Given the description of an element on the screen output the (x, y) to click on. 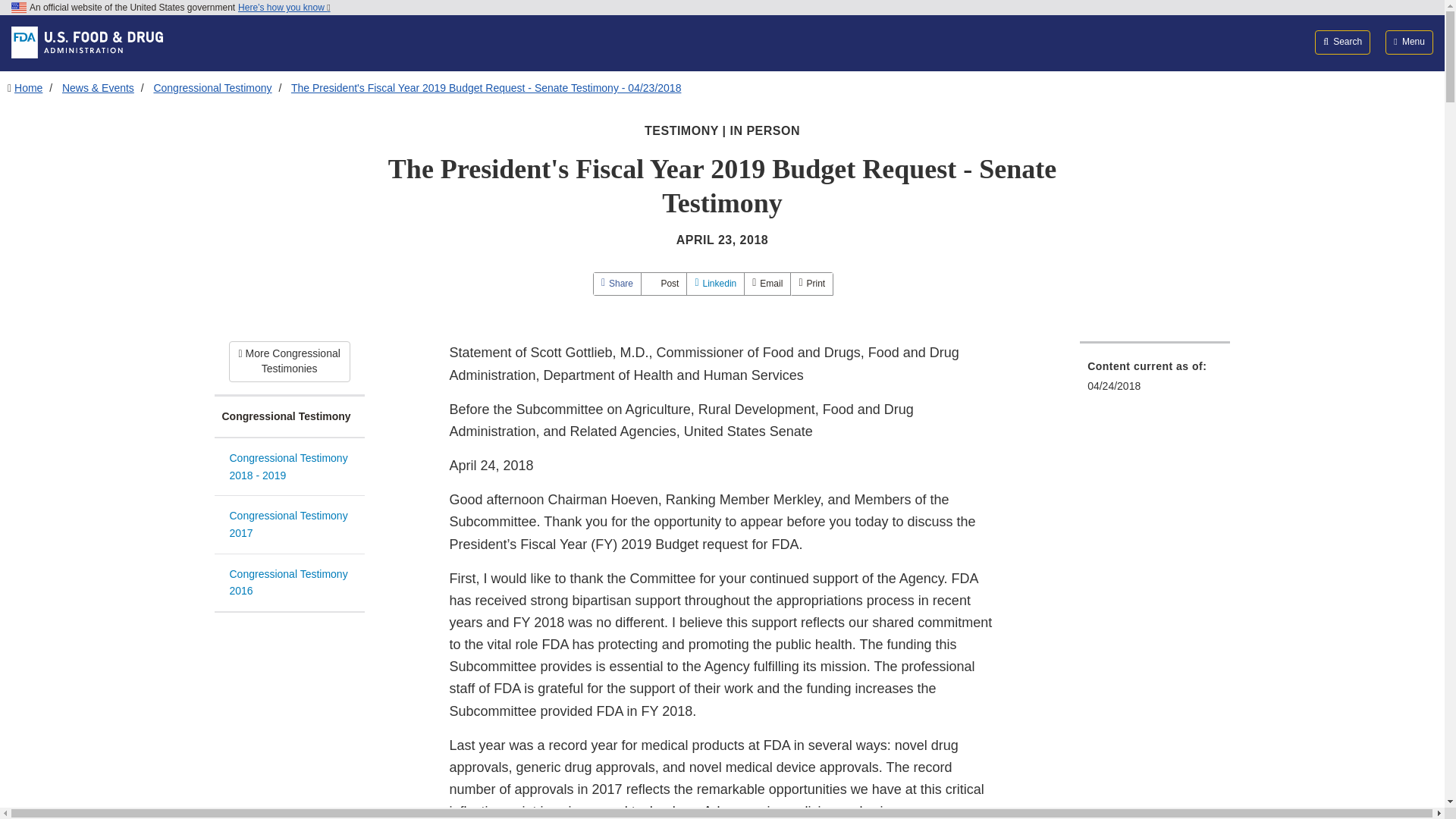
  Search (1342, 42)
  Menu (1409, 42)
Congressional Testimony (289, 417)
Print this page (811, 283)
